Given the description of an element on the screen output the (x, y) to click on. 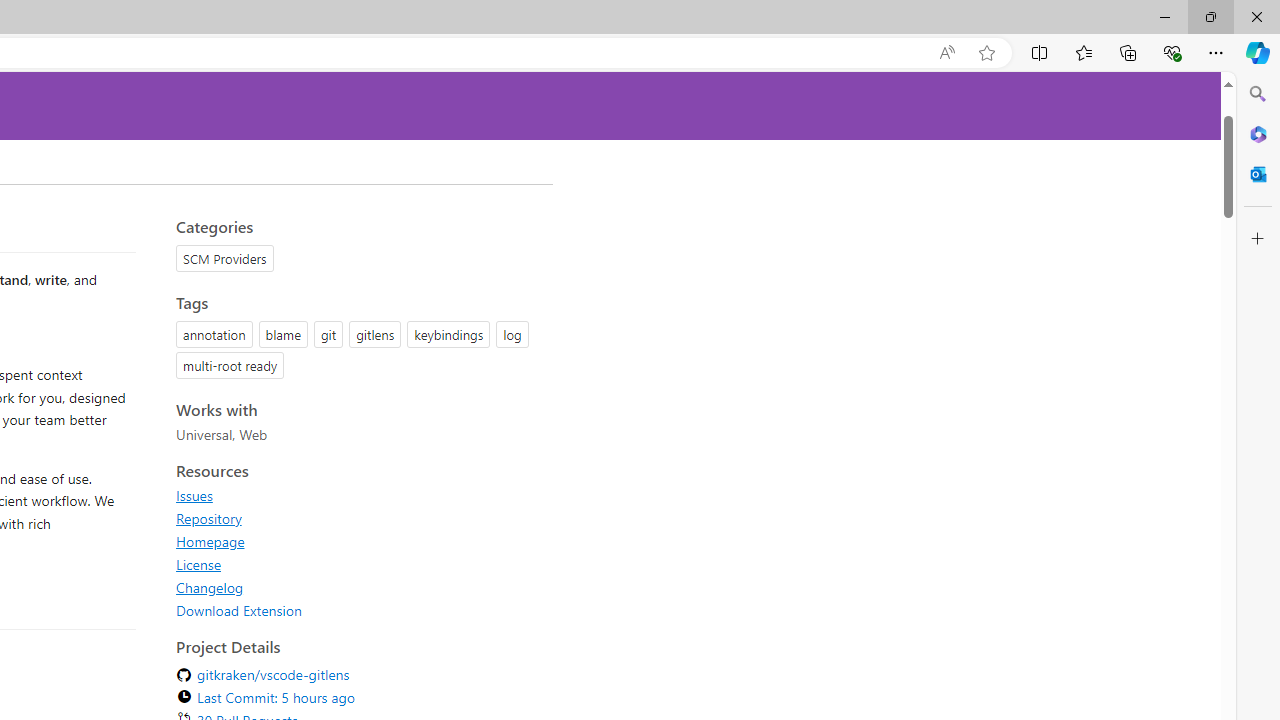
Changelog (210, 587)
License (358, 564)
